Given the description of an element on the screen output the (x, y) to click on. 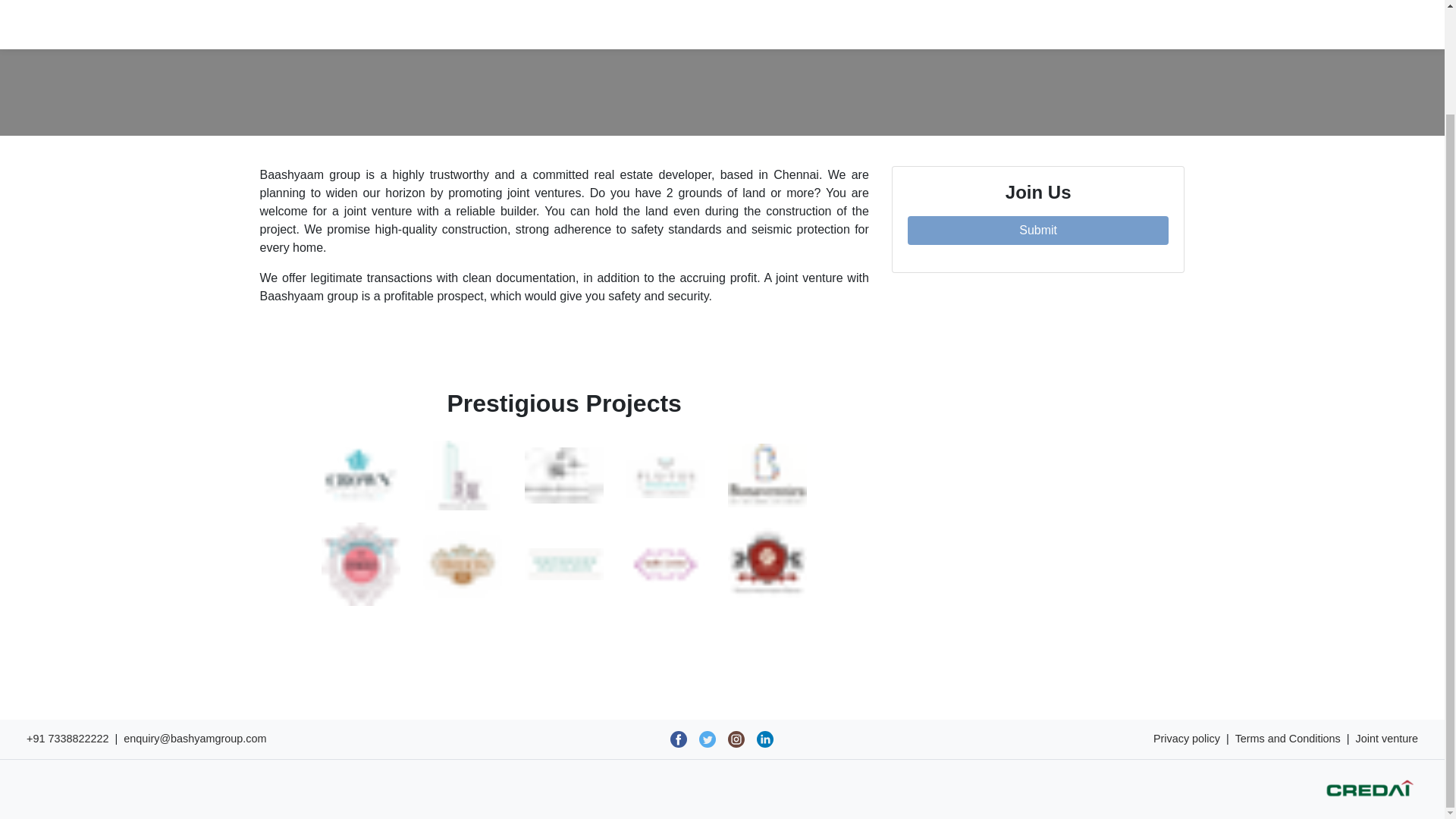
Privacy policy (1186, 739)
Terms and Conditions (1287, 739)
Submit (1038, 230)
Joint venture (1386, 739)
